Given the description of an element on the screen output the (x, y) to click on. 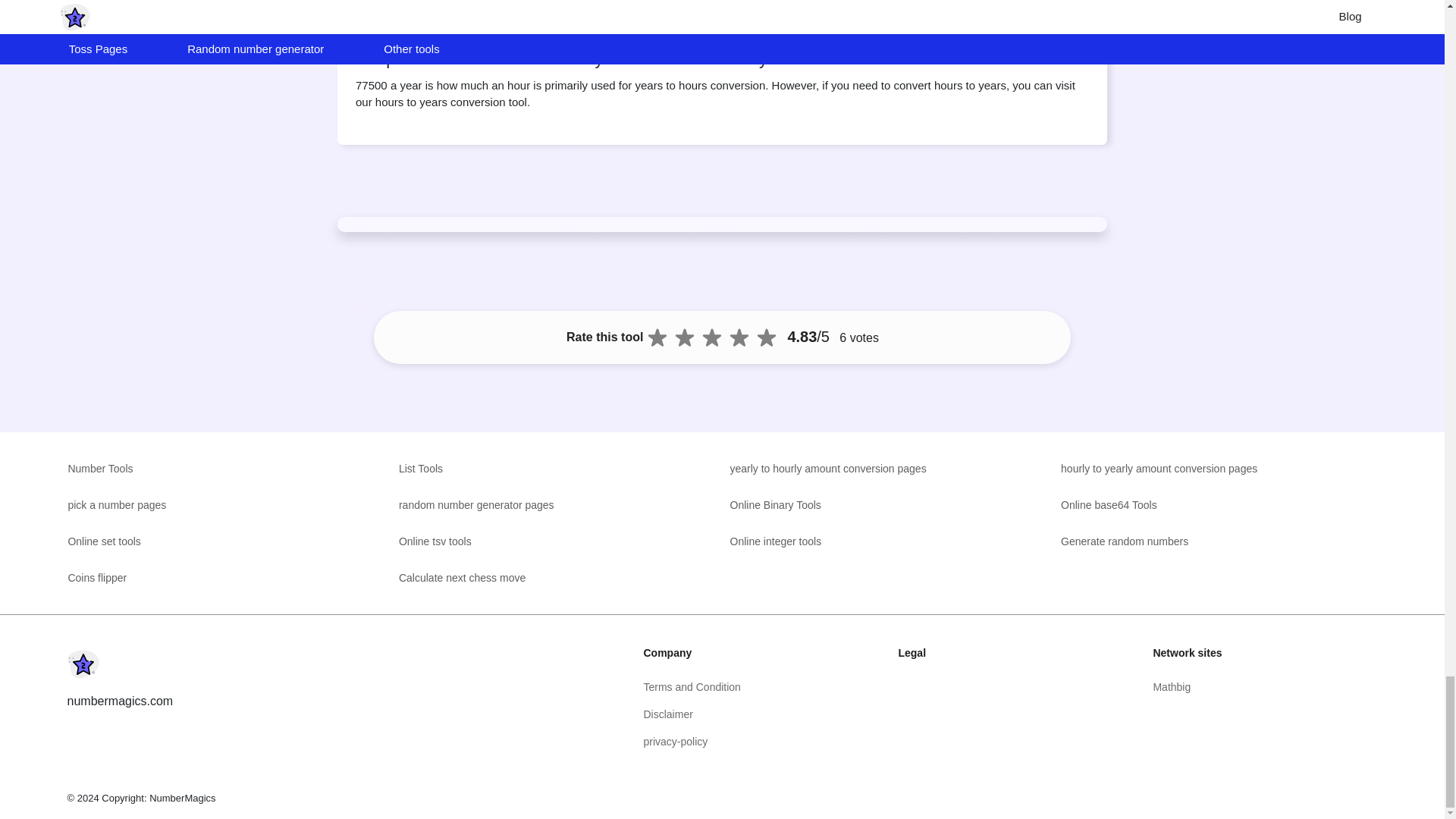
logo (82, 664)
